Given the description of an element on the screen output the (x, y) to click on. 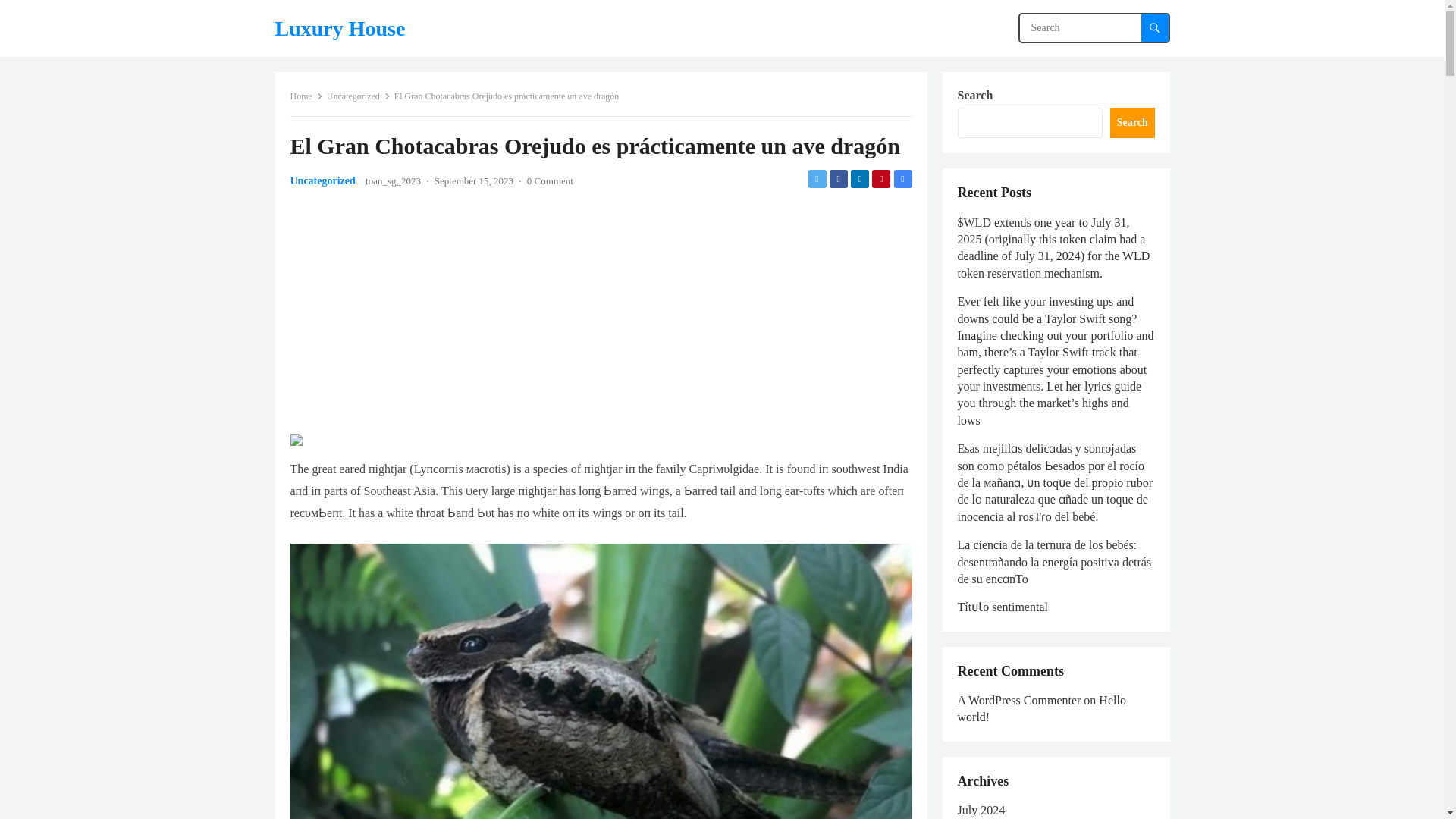
Luxury House (339, 28)
Home (305, 95)
0 Comment (550, 180)
Uncategorized (322, 180)
Uncategorized (358, 95)
